Given the description of an element on the screen output the (x, y) to click on. 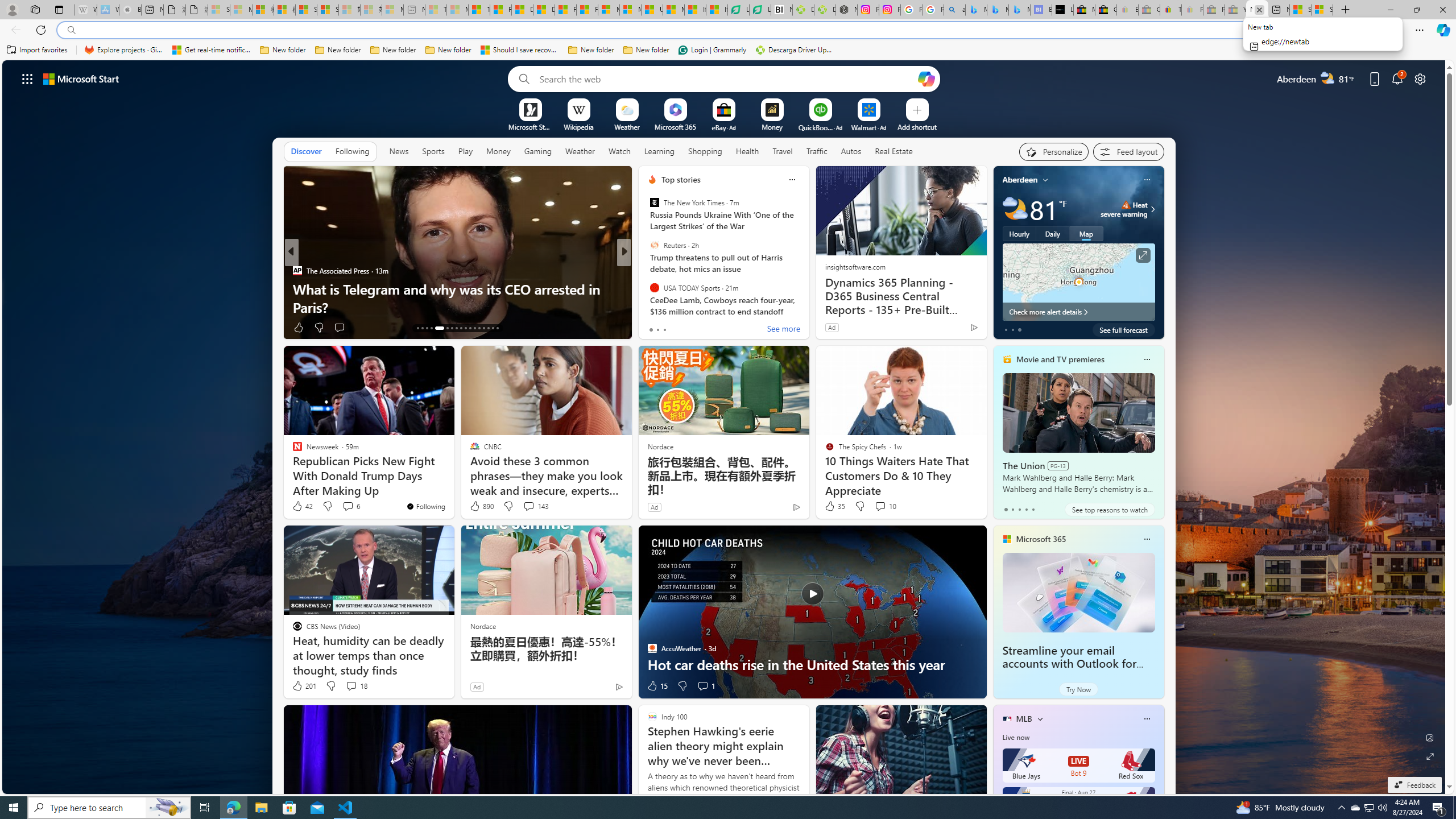
13 Smells Ants Absolutely Hate (807, 307)
AutomationID: tab-24 (474, 328)
12 Signs You Lack Self-Respect (807, 307)
Watch (619, 151)
USA TODAY Sports (654, 287)
App launcher (27, 78)
AutomationID: tab-20 (456, 328)
Partly cloudy (1014, 208)
Enter your search term (726, 78)
Import favorites (36, 49)
Threats and offensive language policy | eBay (1170, 9)
